Given the description of an element on the screen output the (x, y) to click on. 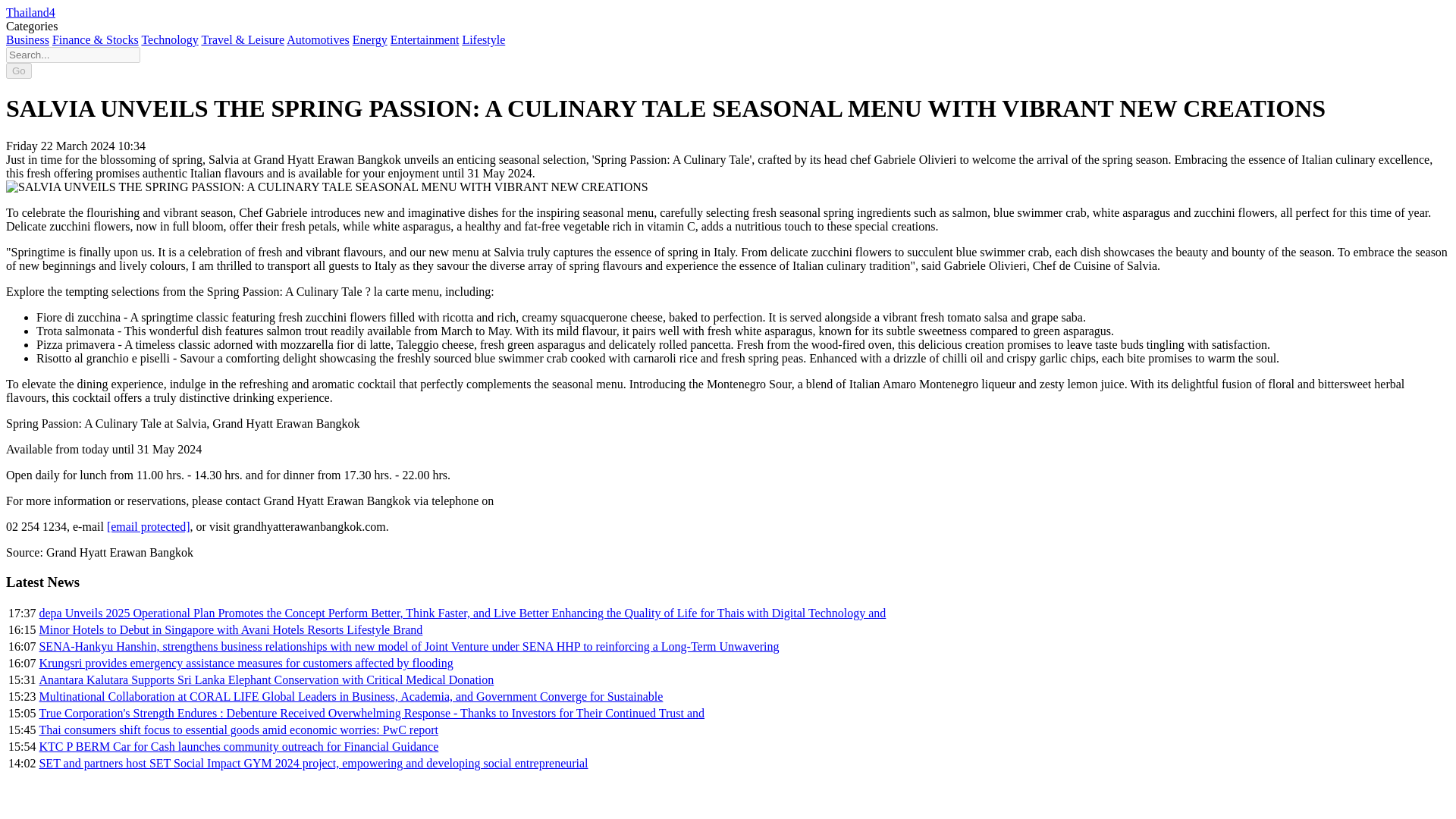
Business (27, 39)
Automotives (317, 39)
Go (18, 70)
